Given the description of an element on the screen output the (x, y) to click on. 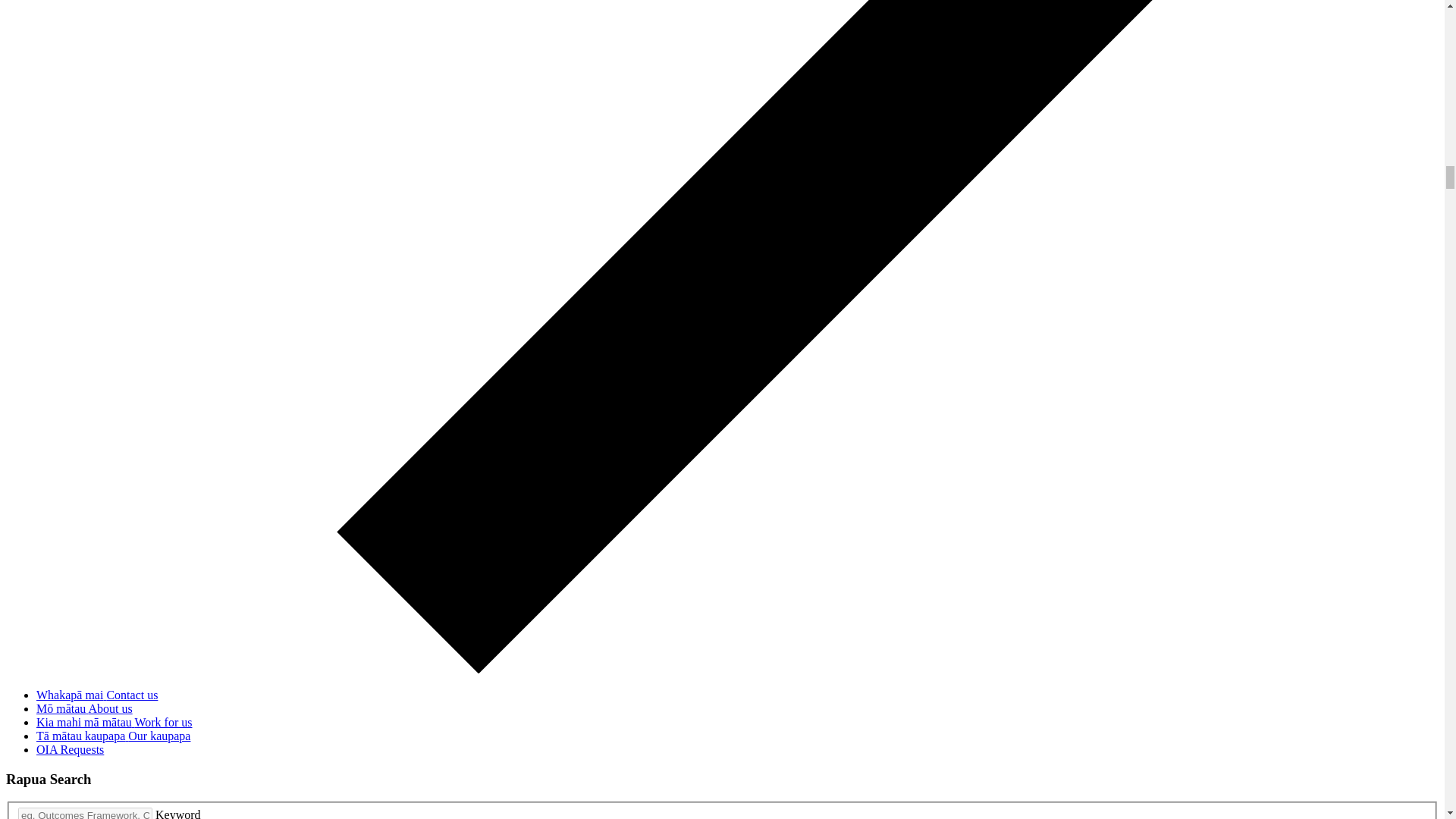
OIA Requests (69, 748)
